Given the description of an element on the screen output the (x, y) to click on. 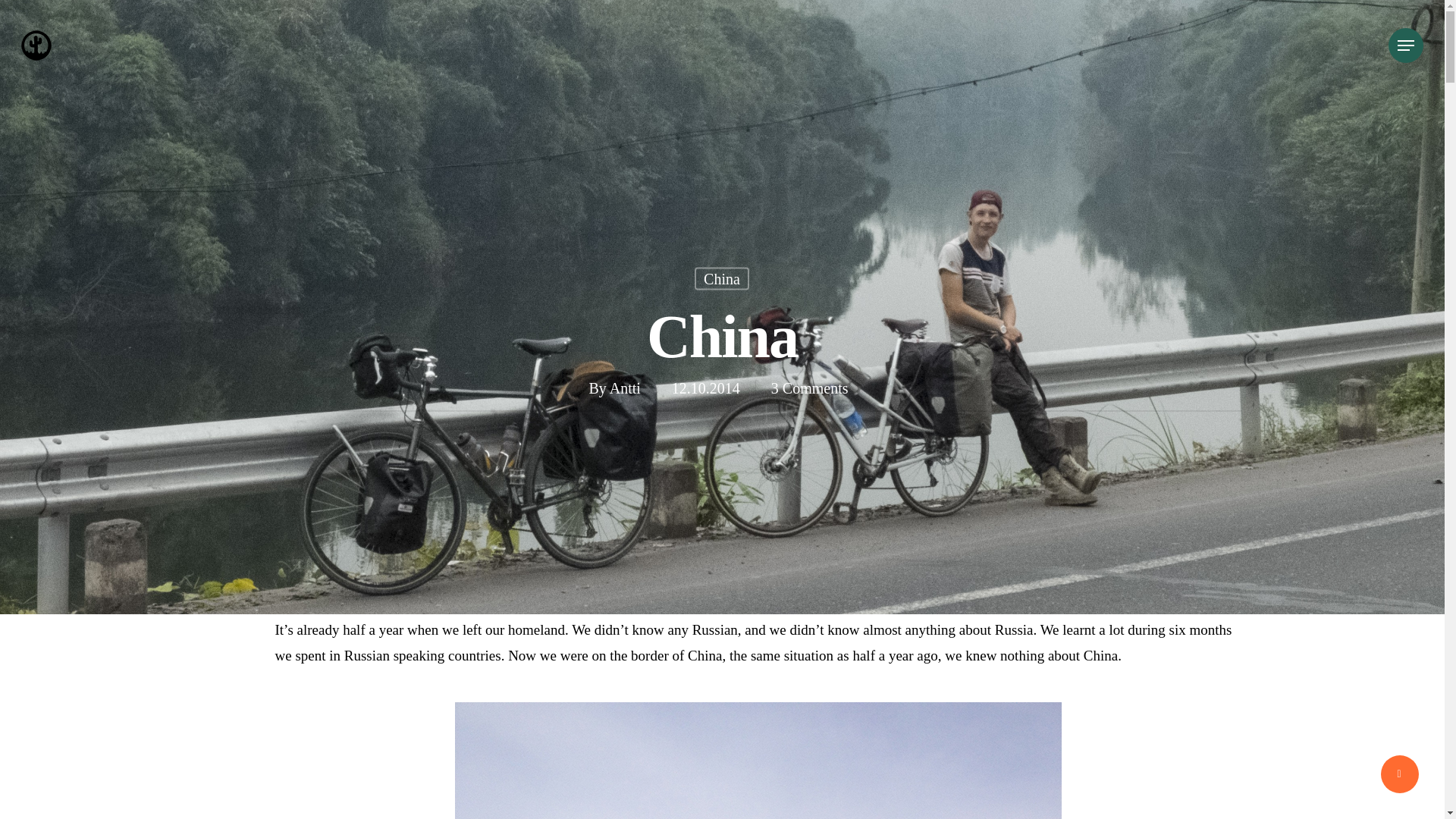
3 Comments (809, 413)
Posts by Antti (625, 387)
Antti (625, 416)
China (721, 307)
